Given the description of an element on the screen output the (x, y) to click on. 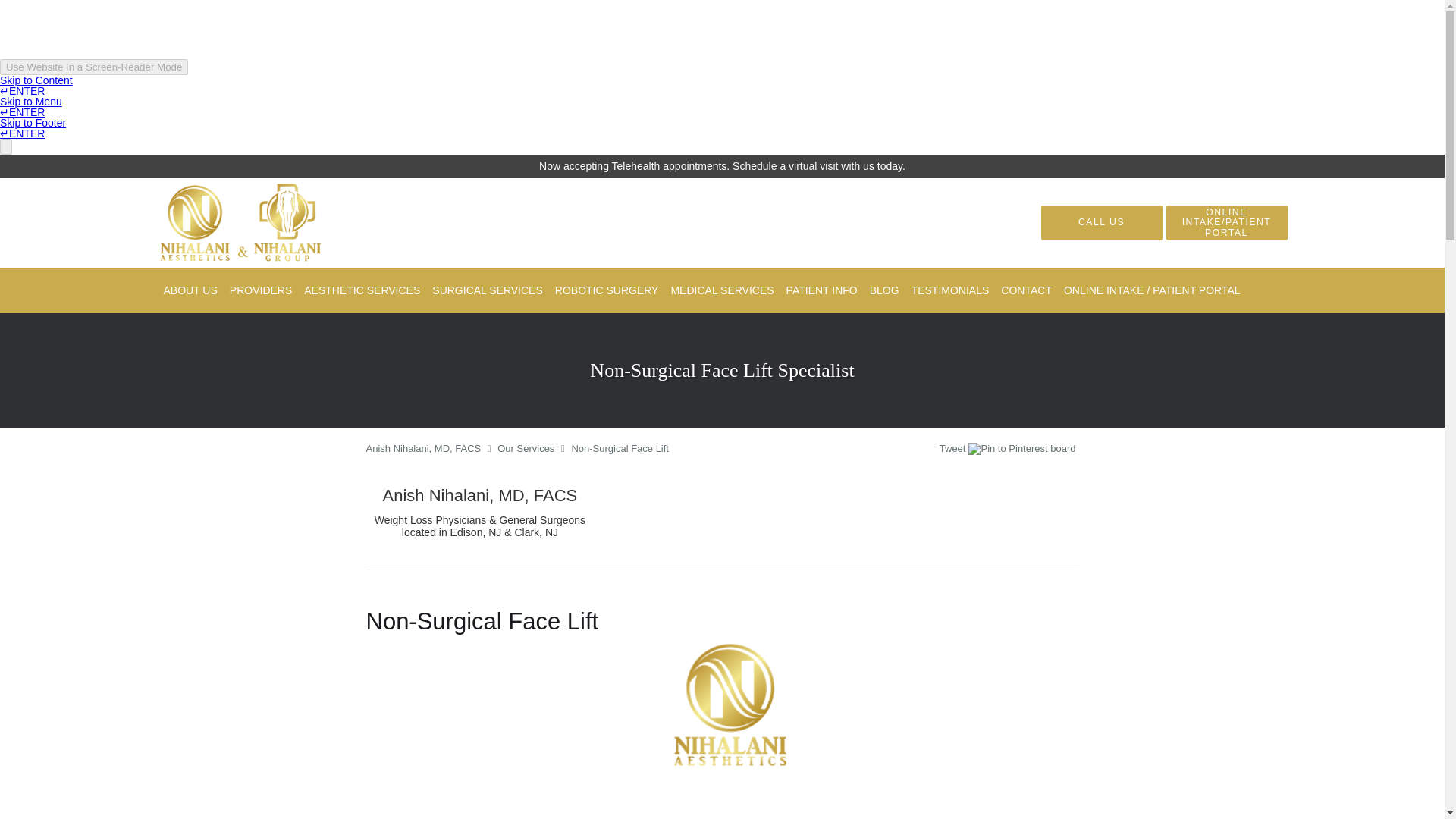
SURGICAL SERVICES (487, 290)
PROVIDERS (261, 290)
CALL US (1101, 222)
AESTHETIC SERVICES (362, 290)
Facebook social button (880, 450)
ABOUT US (190, 290)
